Given the description of an element on the screen output the (x, y) to click on. 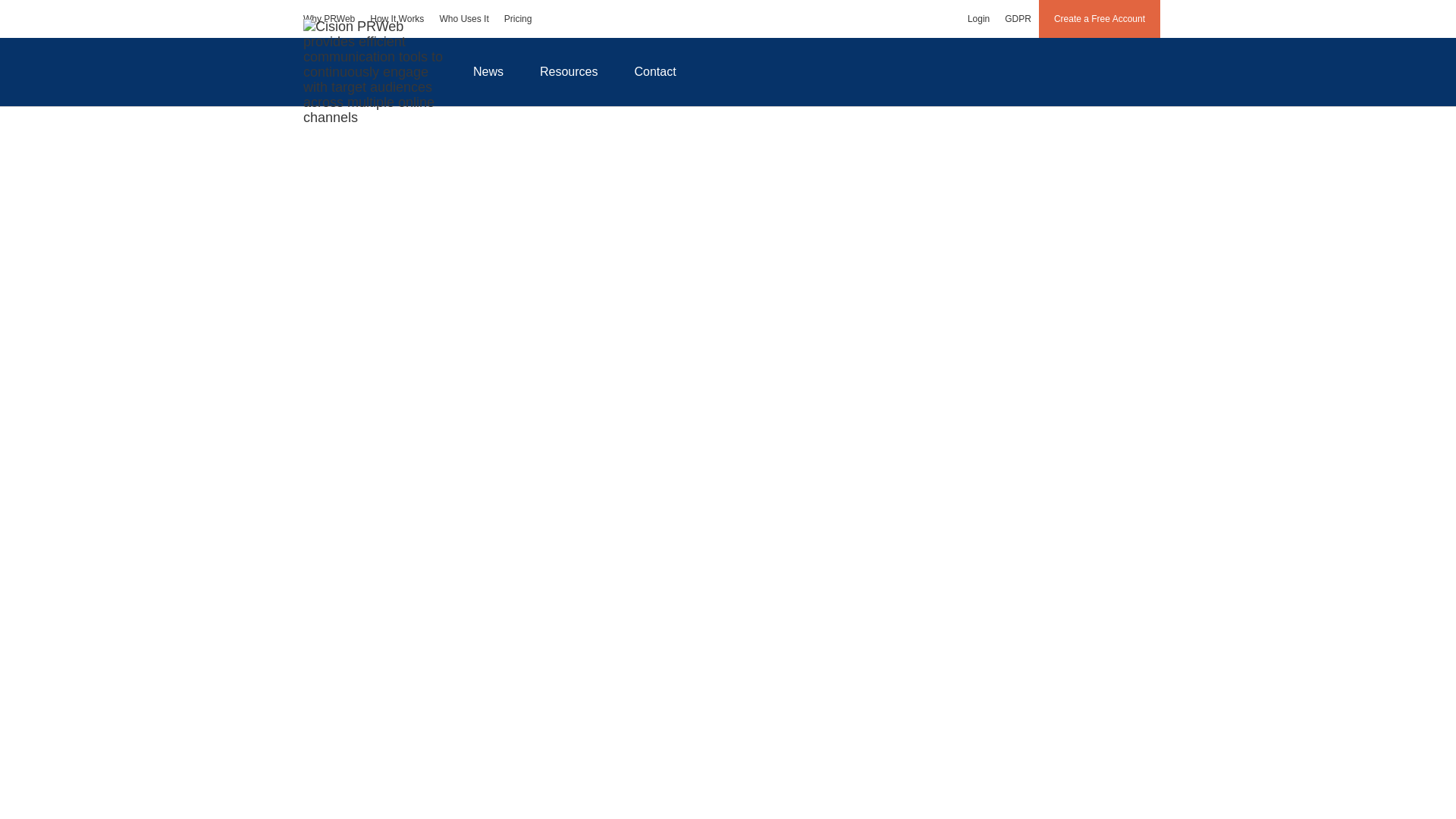
Who Uses It (463, 18)
GDPR (1018, 18)
How It Works (396, 18)
Why PRWeb (328, 18)
Contact (654, 71)
Login (978, 18)
Resources (568, 71)
Pricing (518, 18)
News (487, 71)
Create a Free Account (1099, 18)
